Given the description of an element on the screen output the (x, y) to click on. 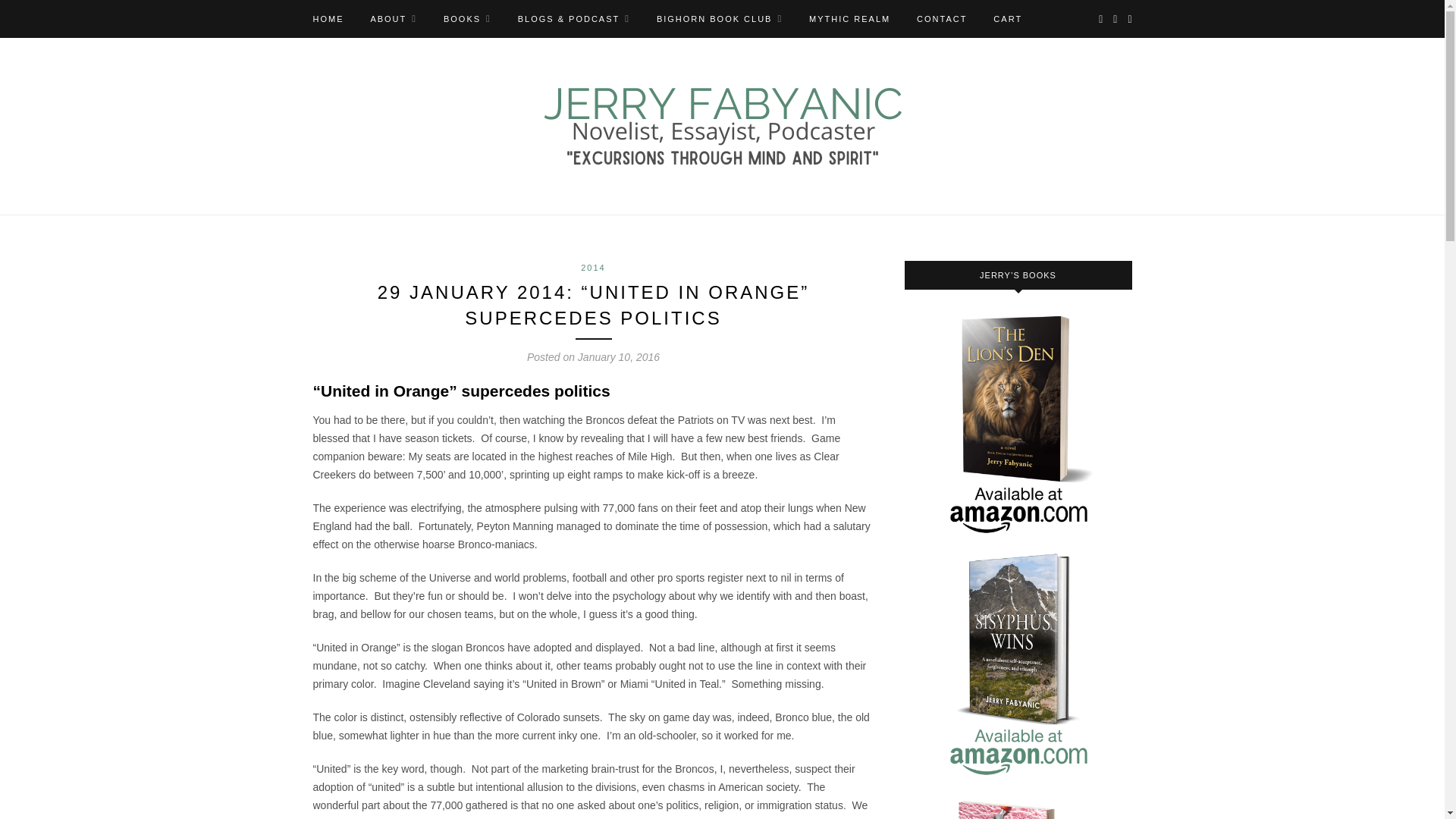
CONTACT (941, 18)
ABOUT (392, 18)
MYTHIC REALM (849, 18)
BOOKS (468, 18)
BIGHORN BOOK CLUB (719, 18)
